Given the description of an element on the screen output the (x, y) to click on. 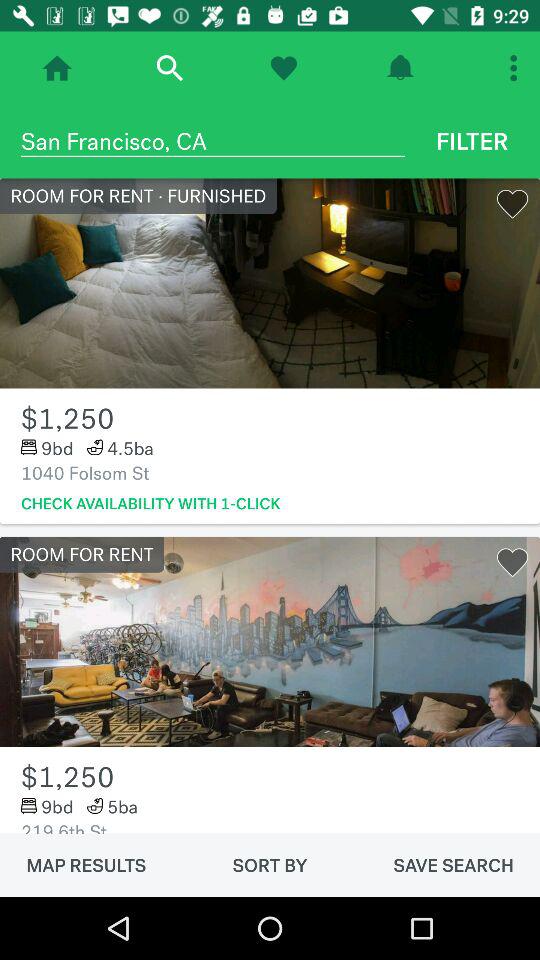
open notifications (400, 68)
